Given the description of an element on the screen output the (x, y) to click on. 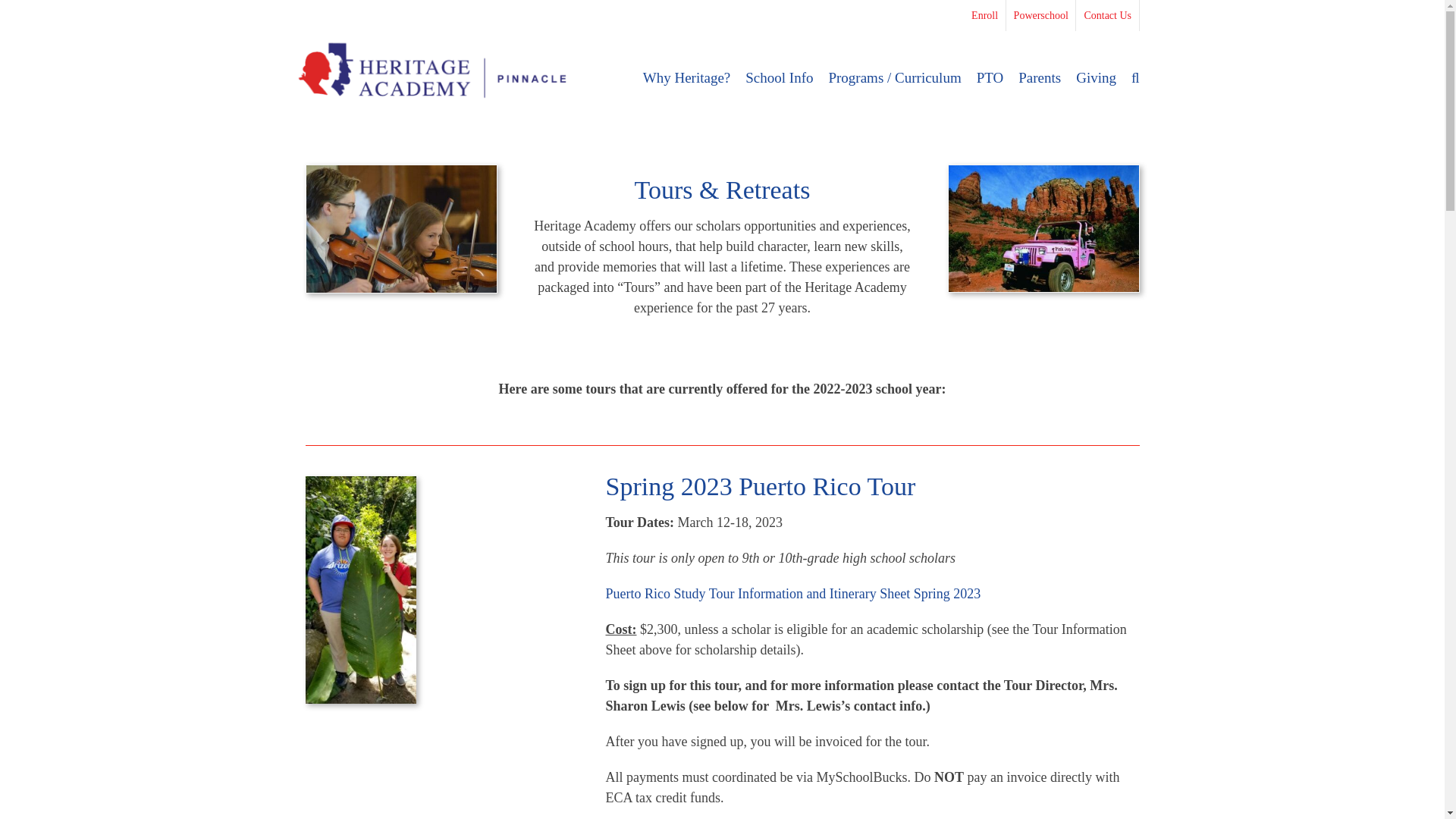
2016ArtsRetreat (400, 228)
Why Heritage? (686, 71)
School Info (778, 71)
Enroll (988, 15)
Pink Jeep Tours (1042, 228)
Parents (1039, 71)
Powerschool (1045, 15)
Contact Us (1110, 15)
